Given the description of an element on the screen output the (x, y) to click on. 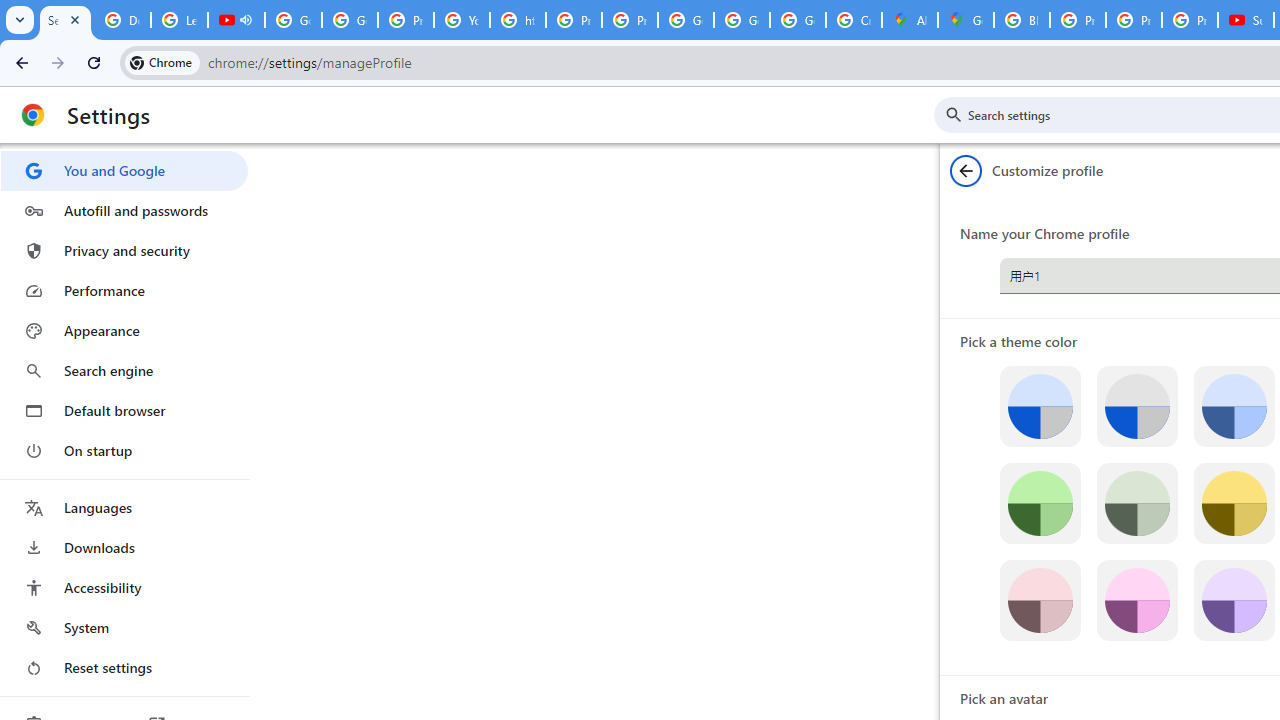
Privacy and security (124, 250)
Reset settings (124, 668)
Autofill and passwords (124, 210)
YouTube (461, 20)
Privacy Help Center - Policies Help (1133, 20)
Search engine (124, 370)
Appearance (124, 331)
Create your Google Account (853, 20)
https://scholar.google.com/ (518, 20)
Delete photos & videos - Computer - Google Photos Help (122, 20)
Blogger Policies and Guidelines - Transparency Center (1021, 20)
Google Account Help (293, 20)
